Given the description of an element on the screen output the (x, y) to click on. 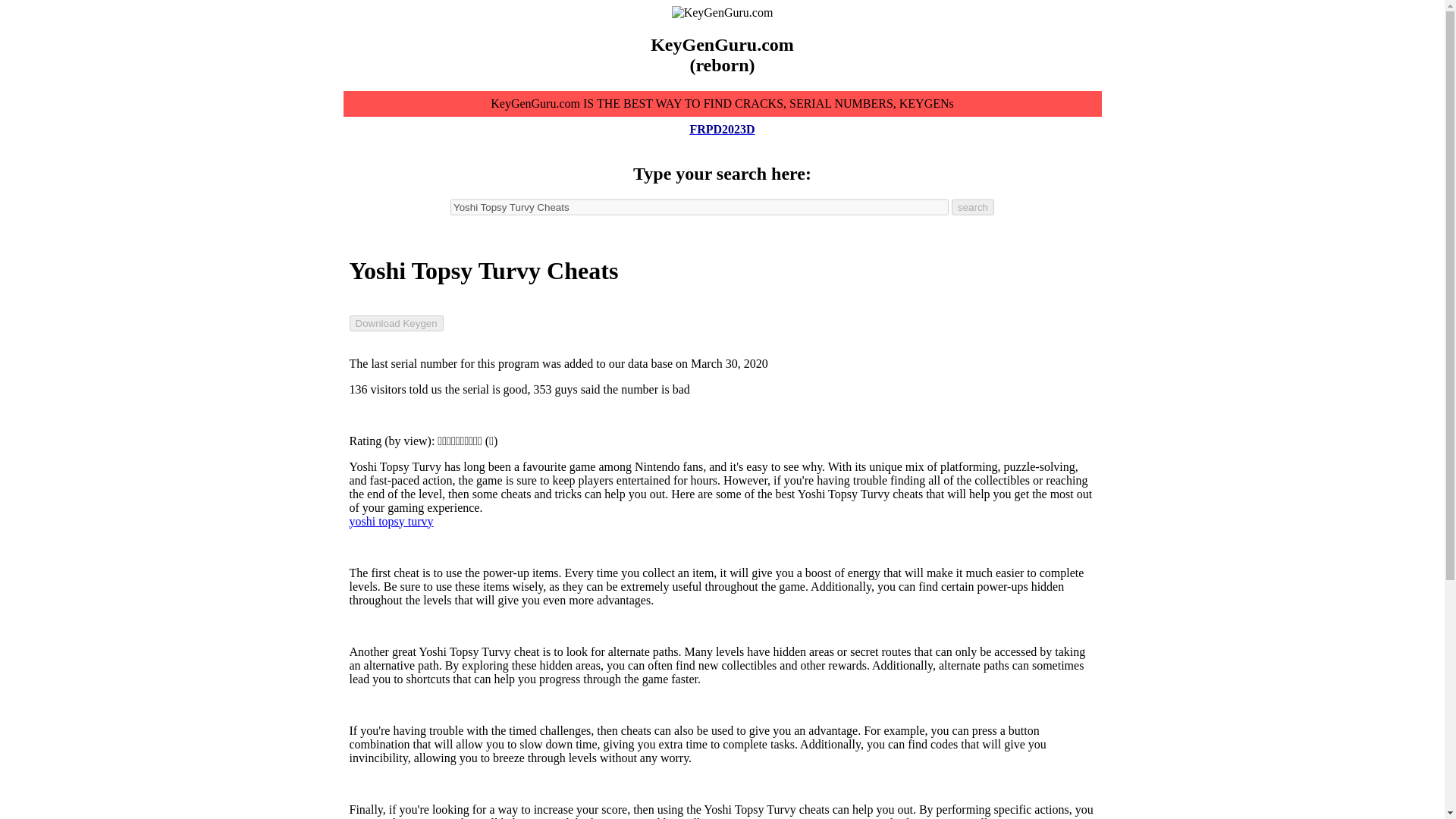
yoshi topsy turvy (390, 520)
Download Keygen (395, 323)
FRPD2023D (721, 128)
search (973, 207)
search (973, 207)
Download Keygen (395, 323)
Yoshi Topsy Turvy Cheats (699, 207)
